Given the description of an element on the screen output the (x, y) to click on. 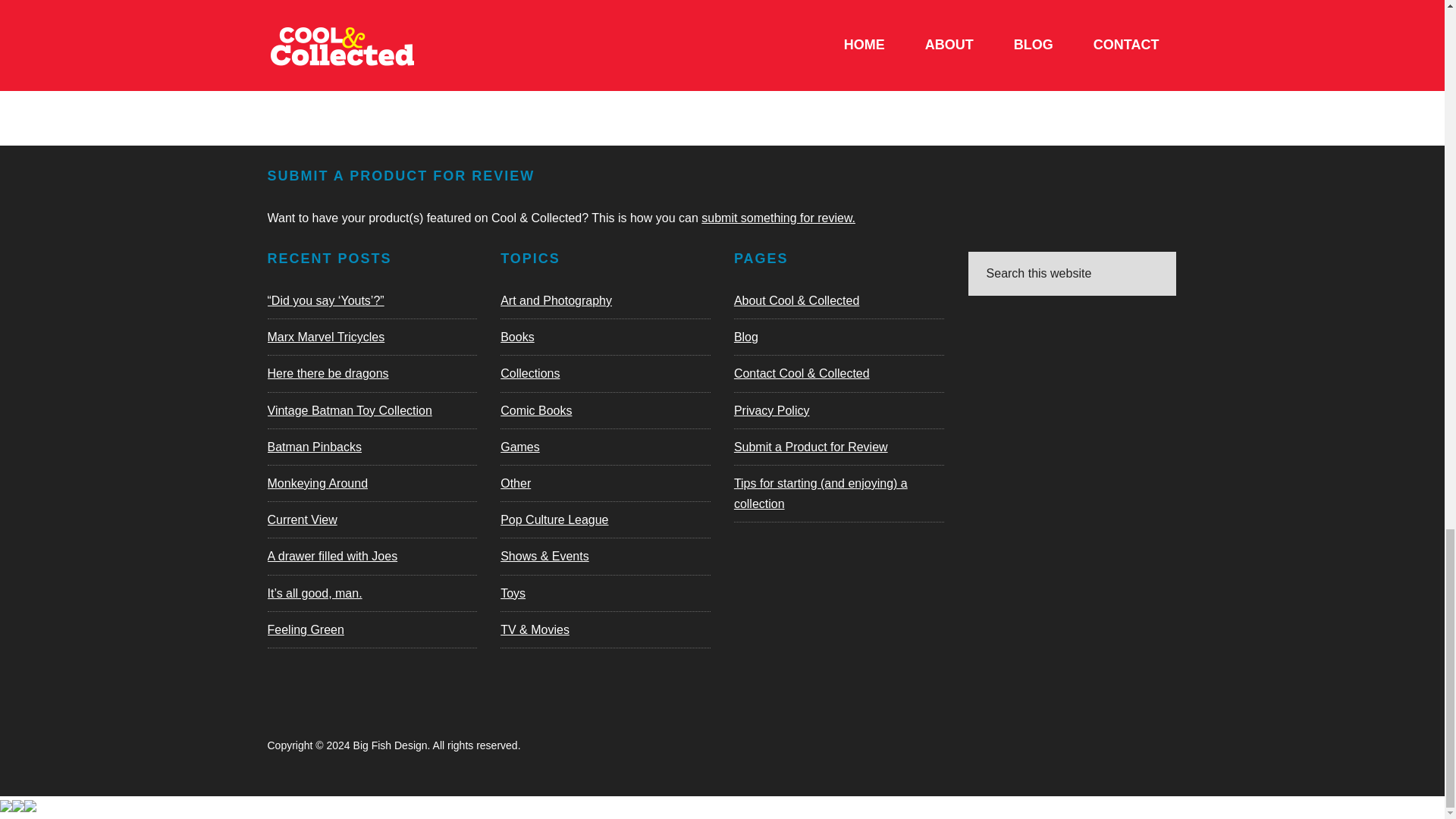
submit something for review. (778, 217)
Other (515, 482)
Vintage Batman Toy Collection (348, 410)
A drawer filled with Joes (331, 555)
Batman Pinbacks (313, 446)
Art and Photography (555, 300)
Feeling Green (304, 629)
Current View (301, 519)
Monkeying Around (317, 482)
Here there be dragons (327, 373)
Collections (529, 373)
Games (520, 446)
Comic Books (536, 410)
